Given the description of an element on the screen output the (x, y) to click on. 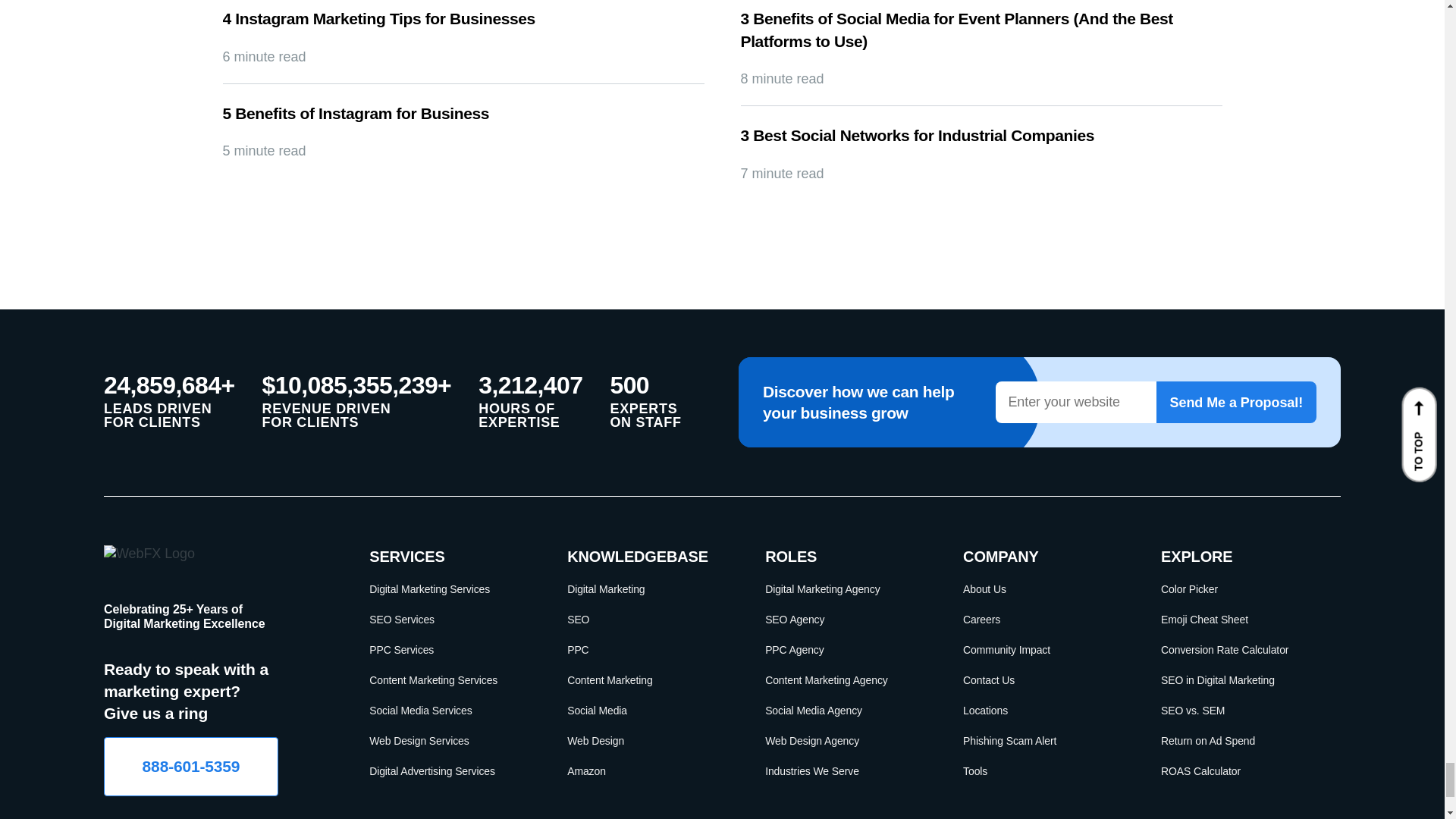
Learn content marketing with free resources (648, 679)
View plans and pricing (450, 649)
Learn SEO with free resources (648, 619)
View plans and pricing (450, 710)
View plans and pricing (450, 679)
Learn digital marketing with free resources (648, 588)
View plans and pricing (450, 619)
Learn social media with free resources (648, 710)
View plans and pricing (450, 741)
View plans and pricing (450, 588)
Learn PPC with free resources (648, 649)
View plans and pricing (450, 771)
Learn web design with free resources (648, 741)
